Given the description of an element on the screen output the (x, y) to click on. 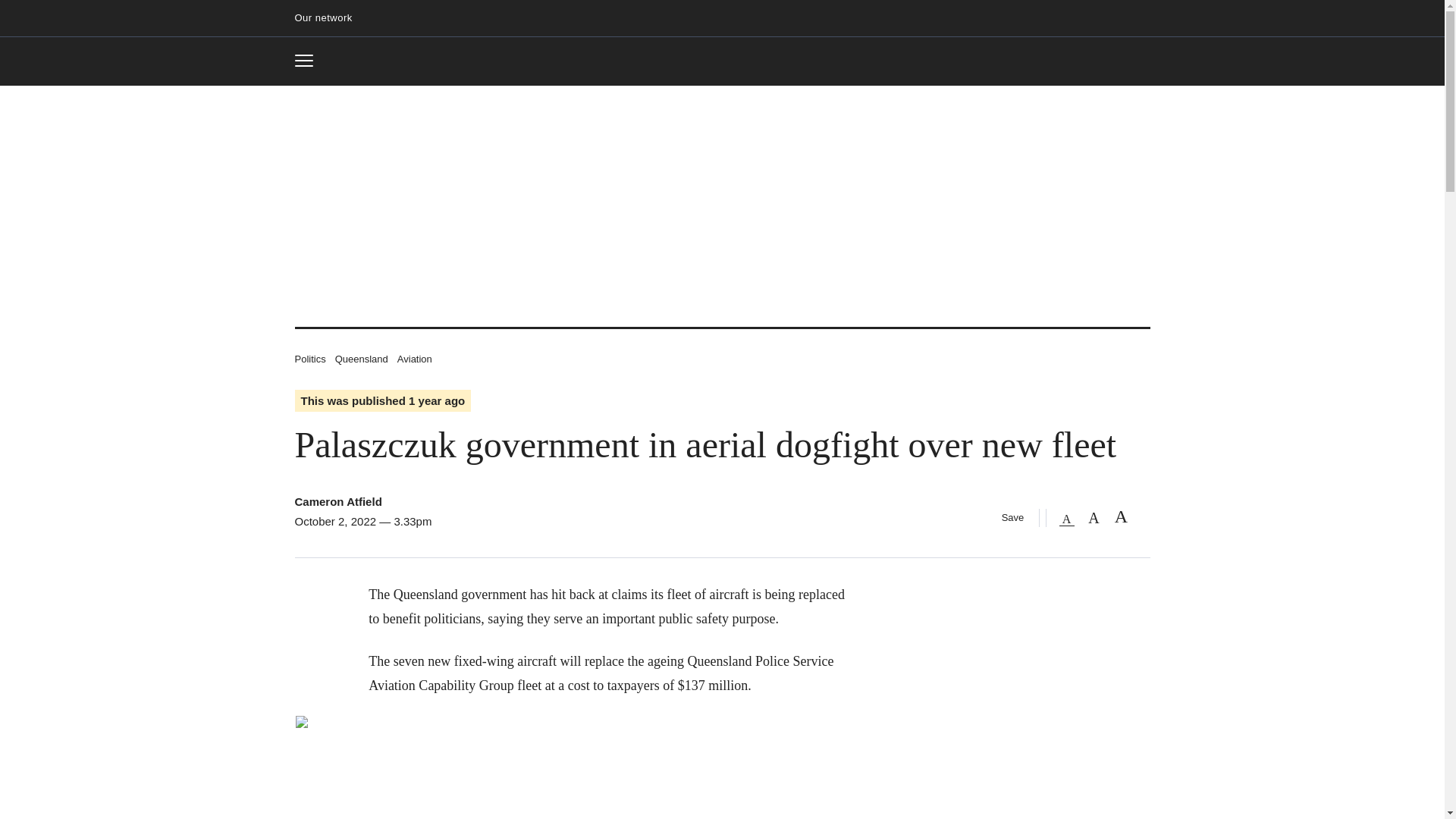
Articles by Cameron Atfield (309, 60)
Brisbane Times (337, 501)
Queensland (722, 61)
Politics (361, 358)
Aviation (309, 358)
Our network (414, 358)
